Given the description of an element on the screen output the (x, y) to click on. 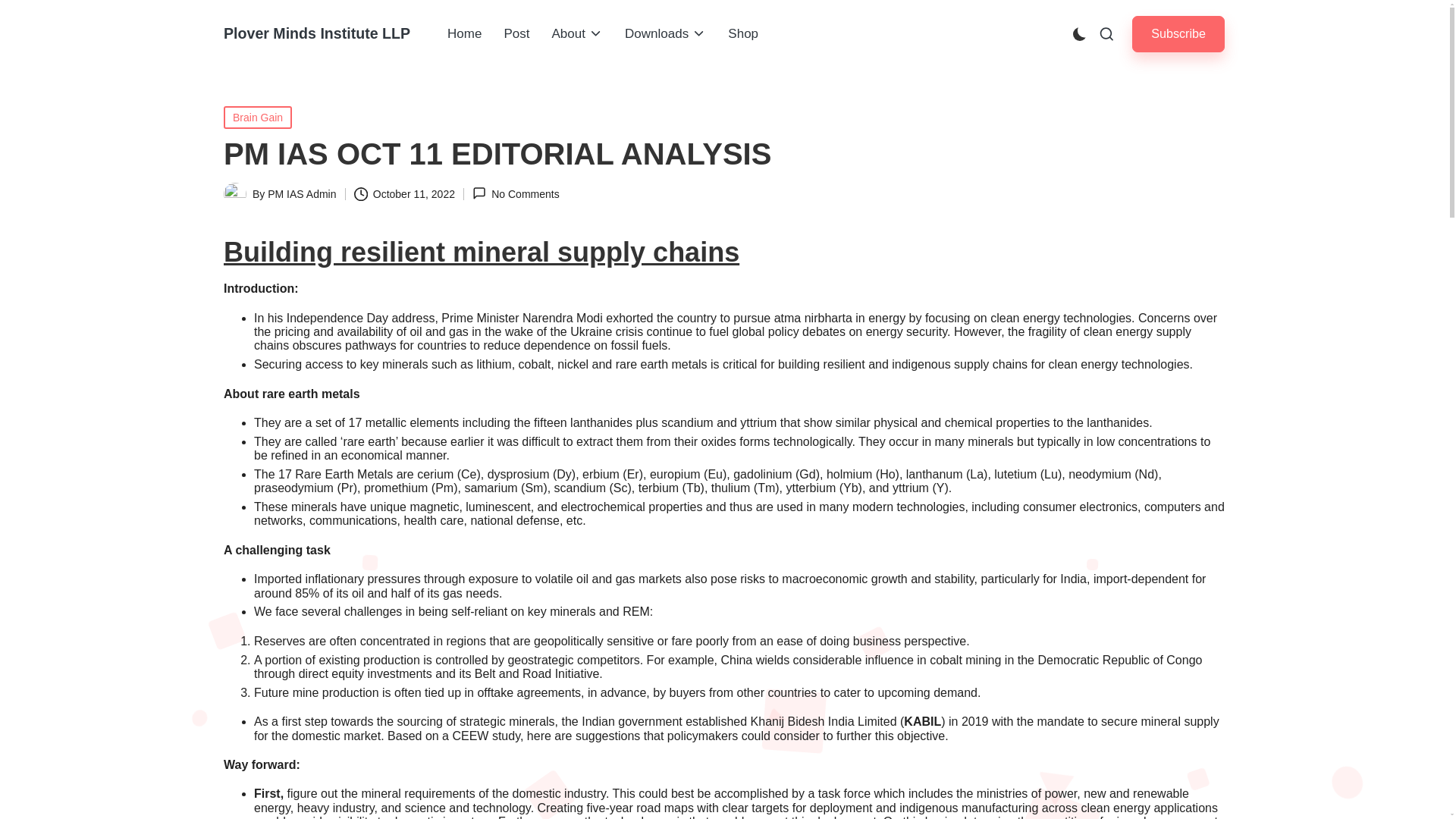
PM IAS Admin (301, 193)
Shop (742, 34)
Home (464, 34)
Brain Gain (258, 117)
Plover Minds Institute LLP (317, 33)
Subscribe (1178, 33)
Post (516, 34)
No Comments (515, 193)
Downloads (665, 34)
View all posts by PM IAS Admin (301, 193)
